Given the description of an element on the screen output the (x, y) to click on. 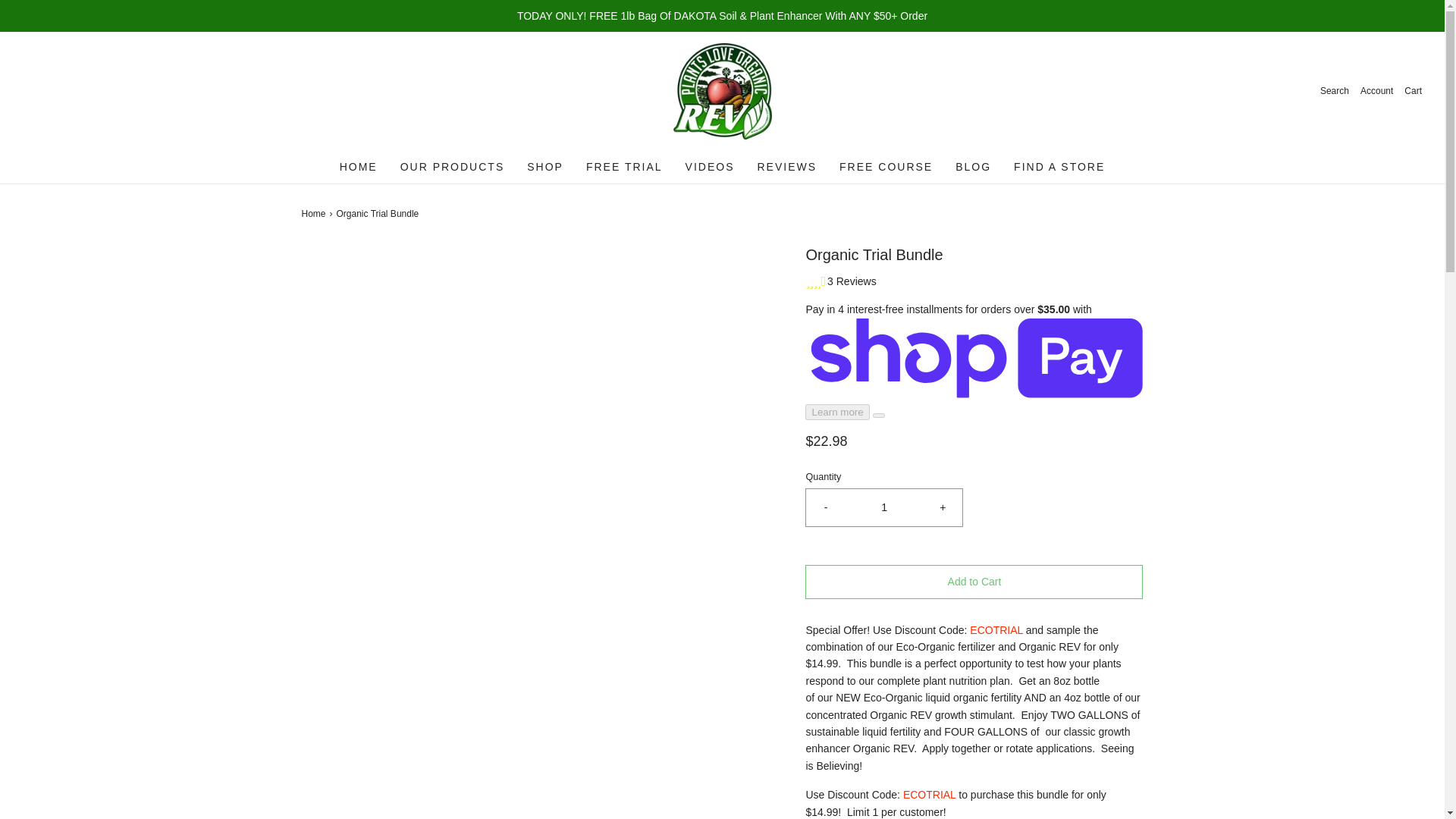
Log in (1376, 91)
Search (1334, 91)
Back to the frontpage (315, 214)
Search (1334, 91)
Cart (1413, 91)
Account (1376, 91)
Cart (1413, 91)
1 (884, 506)
